Given the description of an element on the screen output the (x, y) to click on. 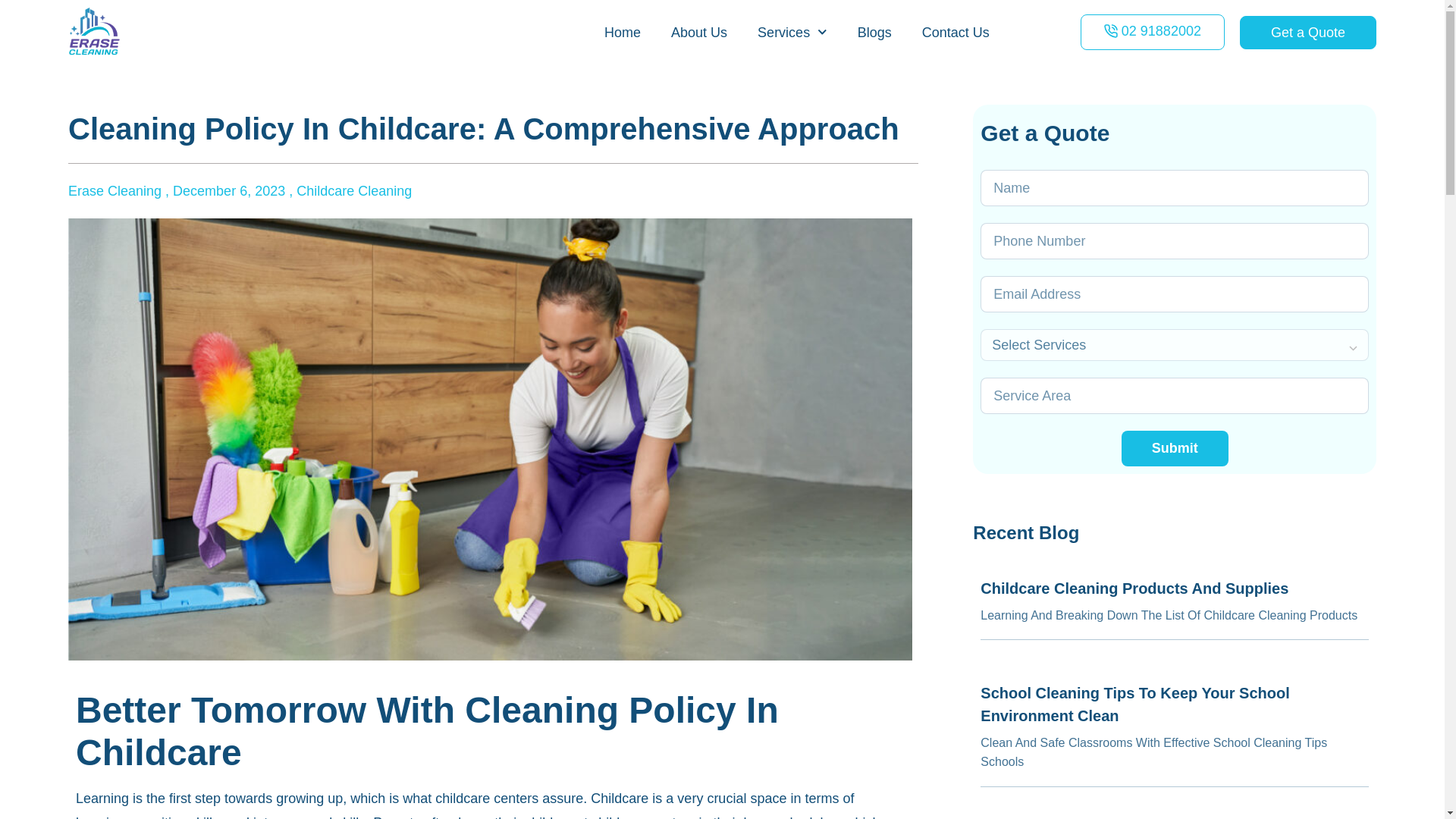
Contact Us (955, 32)
Get a Quote (1307, 31)
02 91882002 (1152, 31)
Home (622, 32)
Blogs (875, 32)
Complete cleaning solutions in Sydney (792, 32)
Our Journey To Setting Industry Standards (699, 32)
About Us (699, 32)
Your Ultimate Cleaning Partner In Sydney (622, 32)
Services (792, 32)
